Given the description of an element on the screen output the (x, y) to click on. 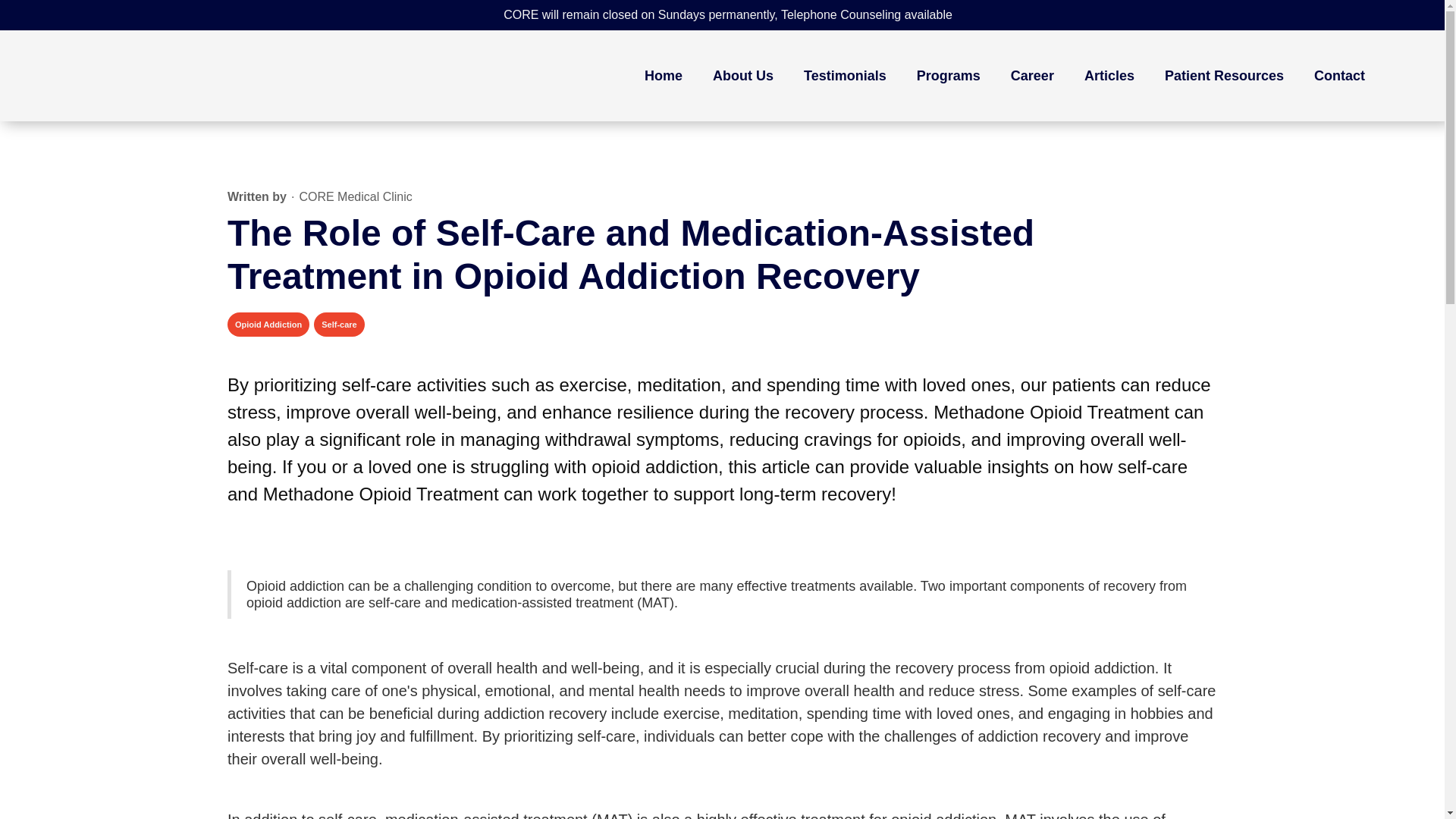
About Us (743, 75)
Testimonials (845, 75)
Articles (1109, 75)
Programs (948, 75)
Contact (1339, 75)
Career (1031, 75)
Home (662, 75)
Patient Resources (1224, 75)
